Given the description of an element on the screen output the (x, y) to click on. 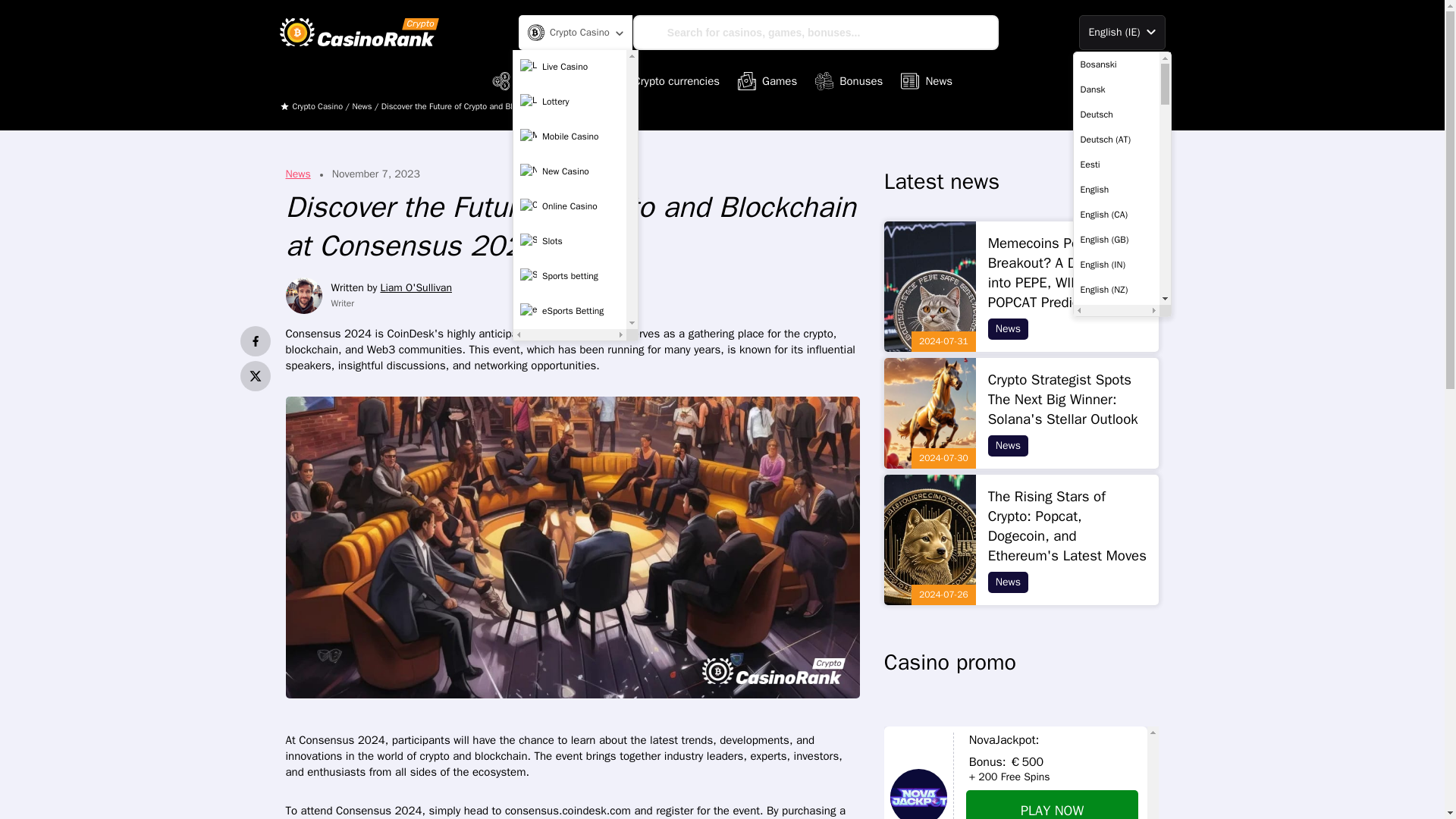
Mobile Casino (569, 136)
Indonesia (1116, 690)
Bosanski (1116, 63)
Eesti (1116, 163)
Live Casino (569, 67)
Slots (569, 241)
Magyar (1116, 790)
Dansk (1116, 89)
English (1116, 189)
New Casino (569, 172)
